Given the description of an element on the screen output the (x, y) to click on. 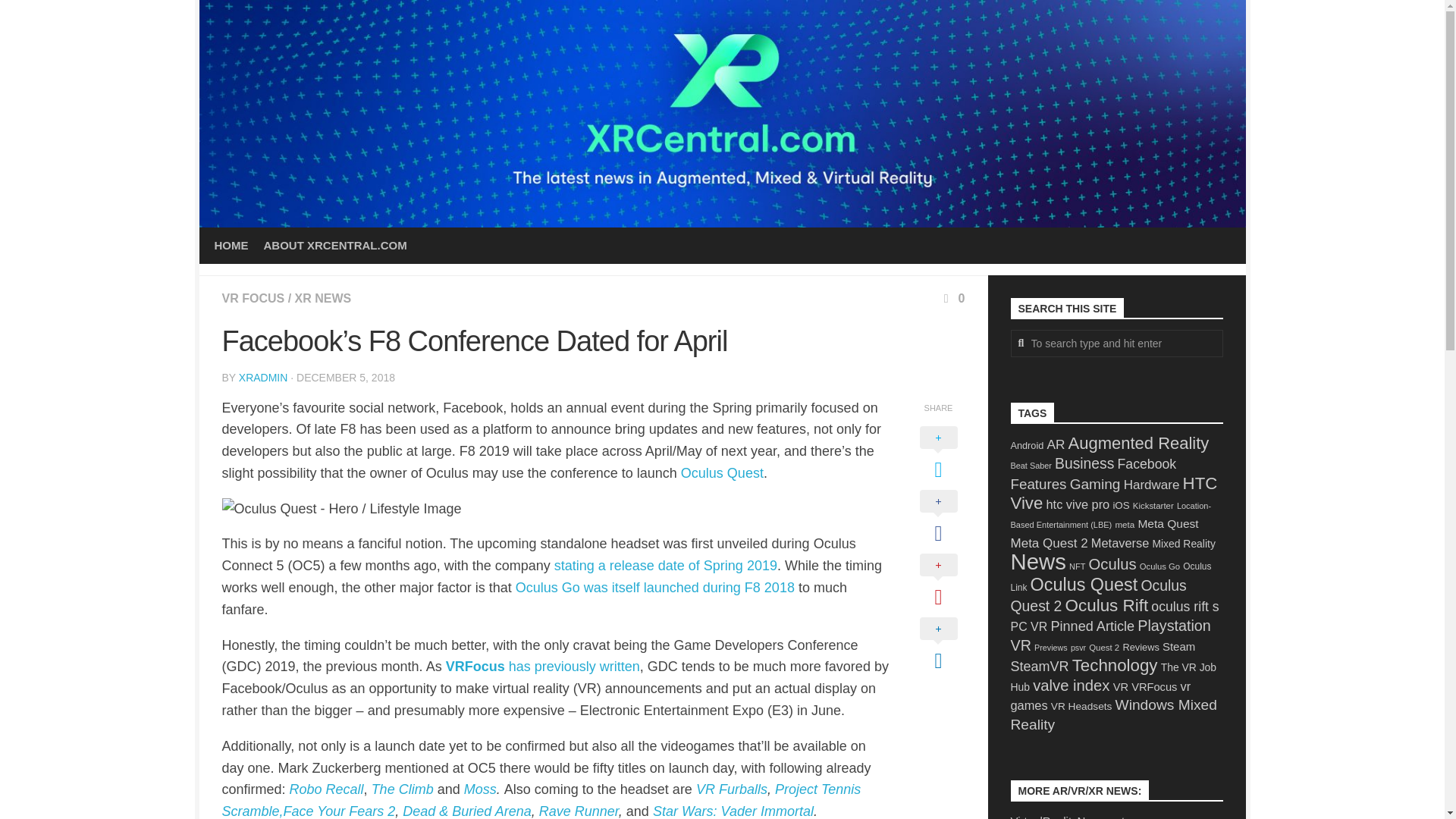
ABOUT XRCENTRAL.COM (335, 245)
Moss (478, 789)
VR Furballs (731, 789)
Oculus Quest (721, 473)
Star Wars: Vader Immortal (732, 811)
Rave Runner (578, 811)
To search type and hit enter (1116, 343)
has previously written (574, 666)
Posts by xradmin (263, 377)
Robo Recall (326, 789)
